Given the description of an element on the screen output the (x, y) to click on. 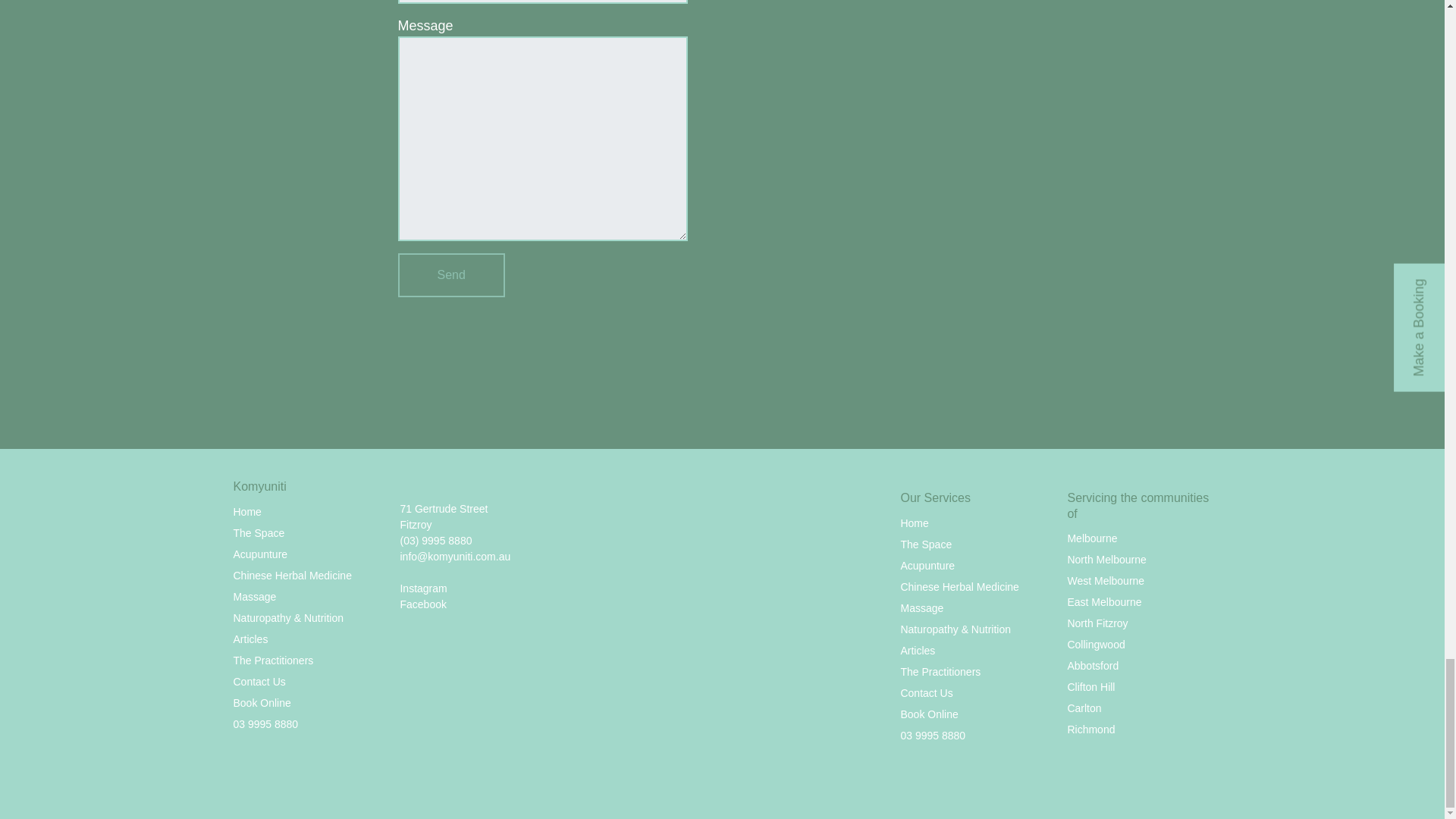
The Space (258, 532)
Massage (254, 596)
Chinese Herbal Medicine (292, 575)
Home (247, 511)
Send (450, 275)
Send (450, 275)
Acupunture (260, 553)
